Given the description of an element on the screen output the (x, y) to click on. 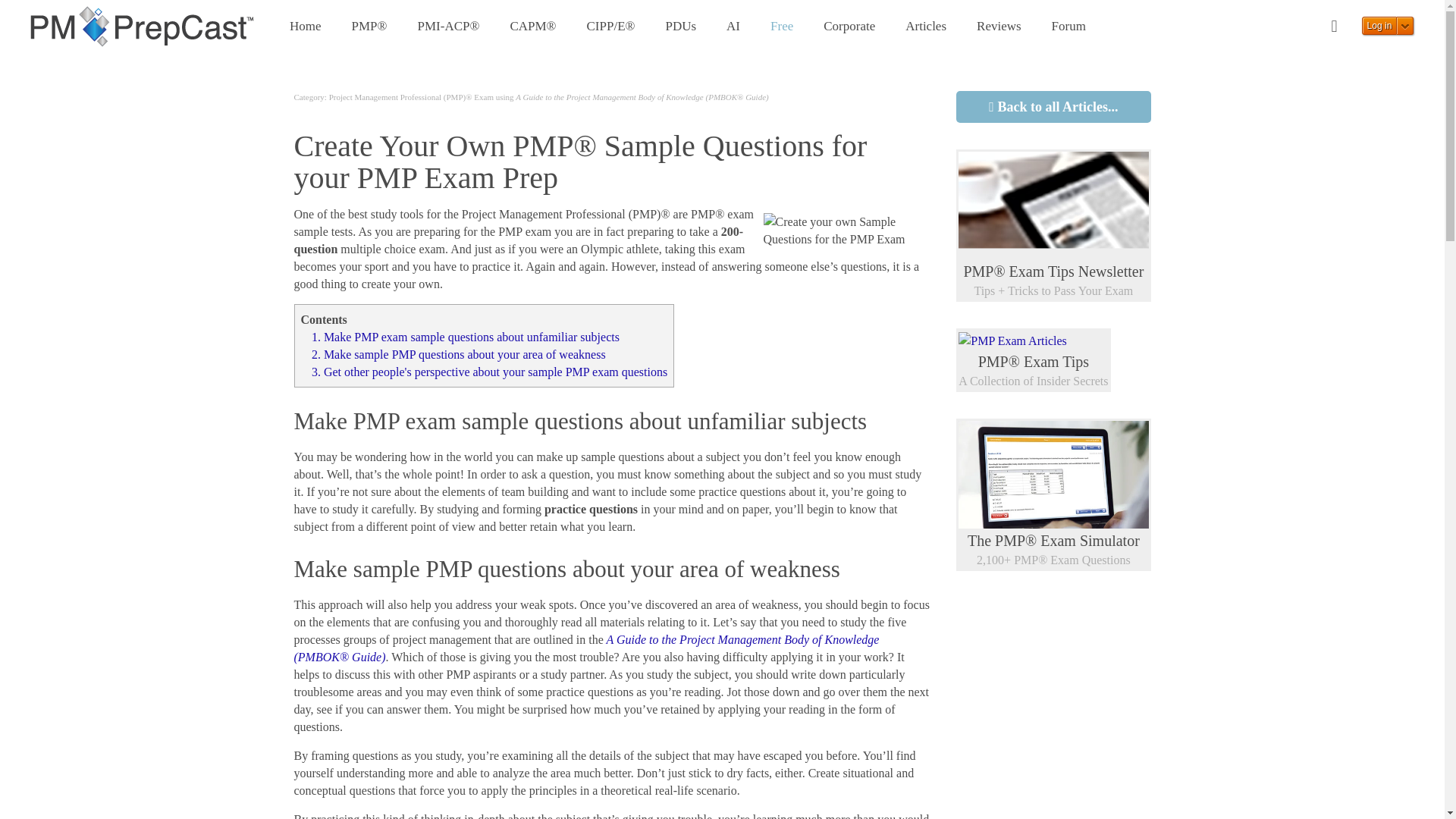
Ways to earn PDUs (680, 26)
PMP Exam Resources (369, 26)
CAPM Exam Prep Resource (532, 26)
The PM PrepCast (143, 25)
PMI-ACP Exam Resources (448, 26)
PDUs (680, 26)
Home (305, 26)
